Given the description of an element on the screen output the (x, y) to click on. 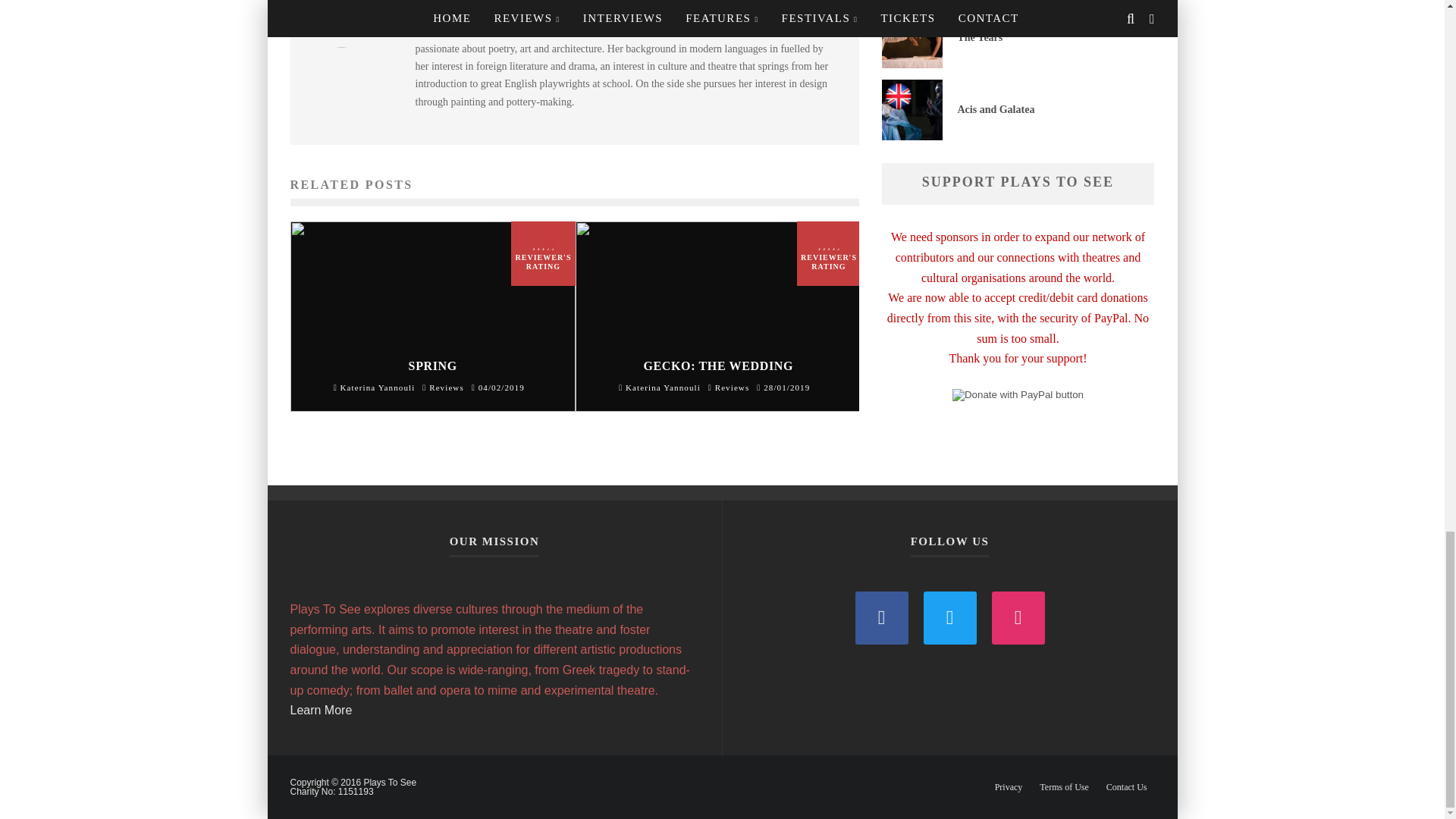
PayPal - The safer, easier way to pay online! (1017, 395)
